Given the description of an element on the screen output the (x, y) to click on. 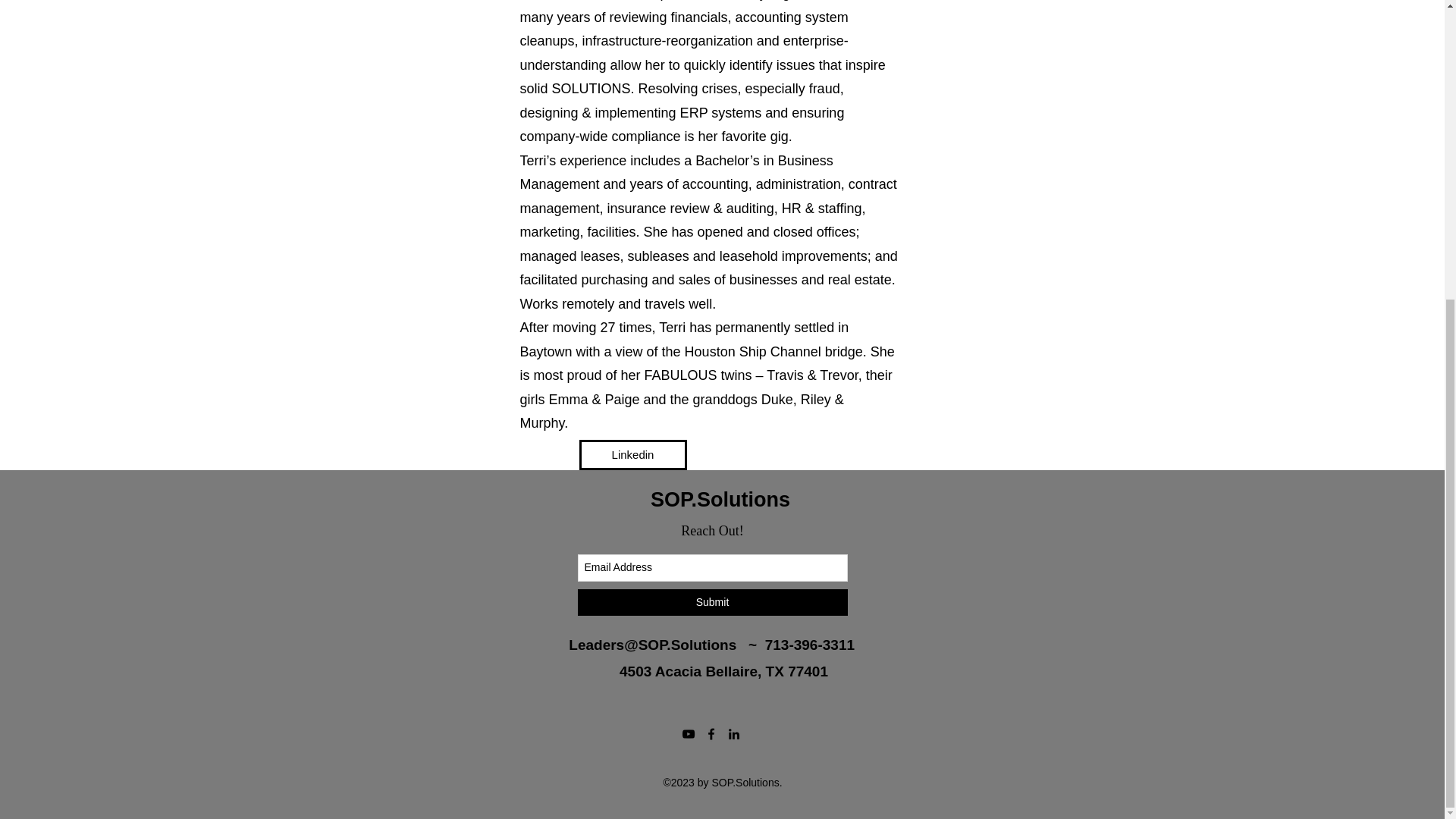
Submit (712, 601)
Linkedin (633, 454)
SOP.Solutions (720, 499)
